Given the description of an element on the screen output the (x, y) to click on. 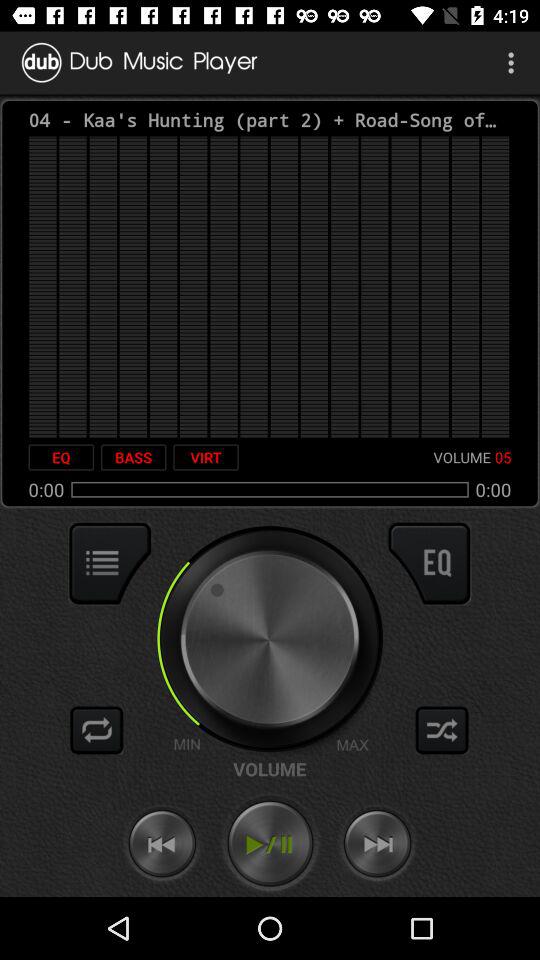
switch qualizer (429, 563)
